Given the description of an element on the screen output the (x, y) to click on. 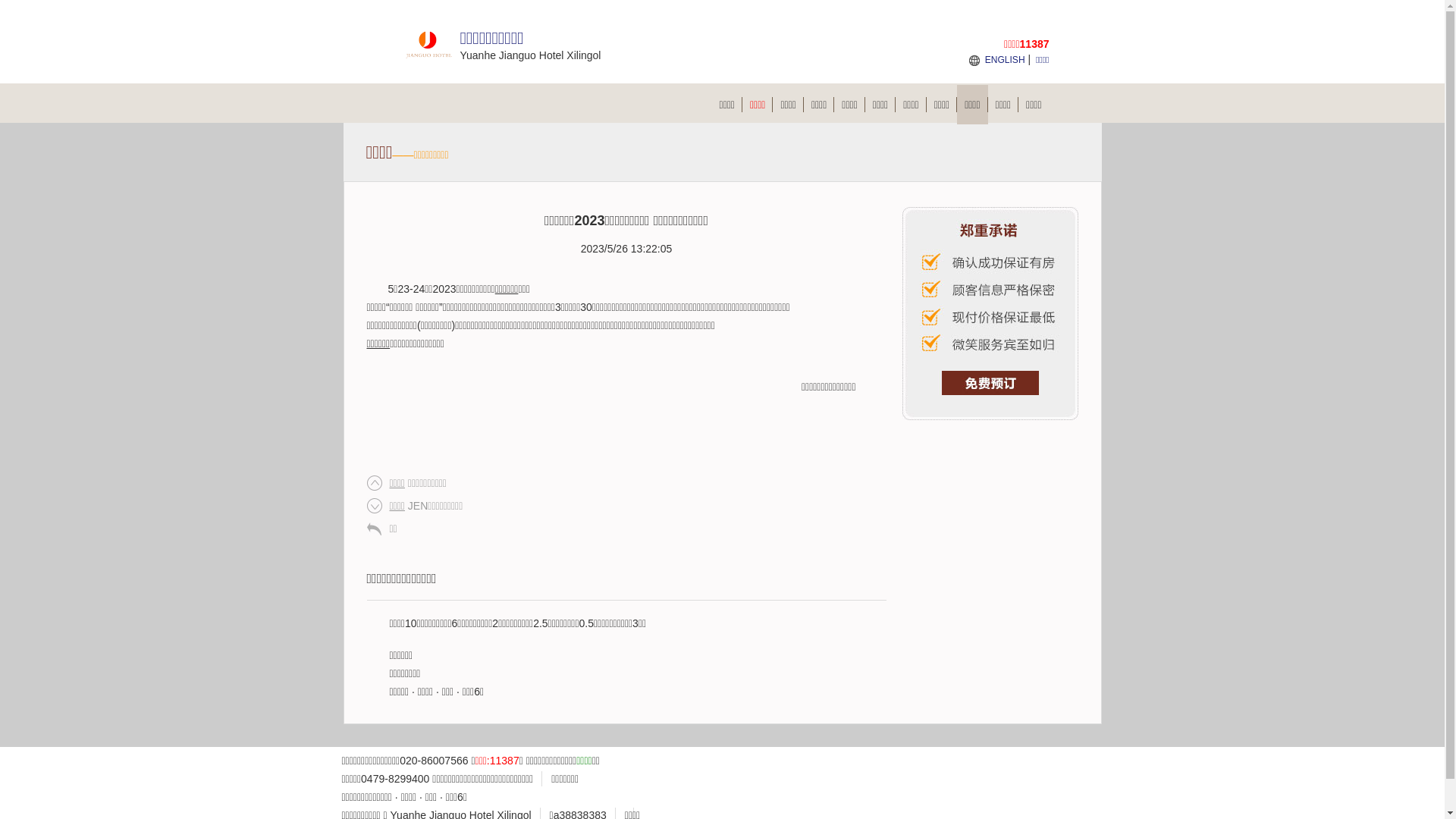
ENGLISH Element type: text (1005, 59)
